Given the description of an element on the screen output the (x, y) to click on. 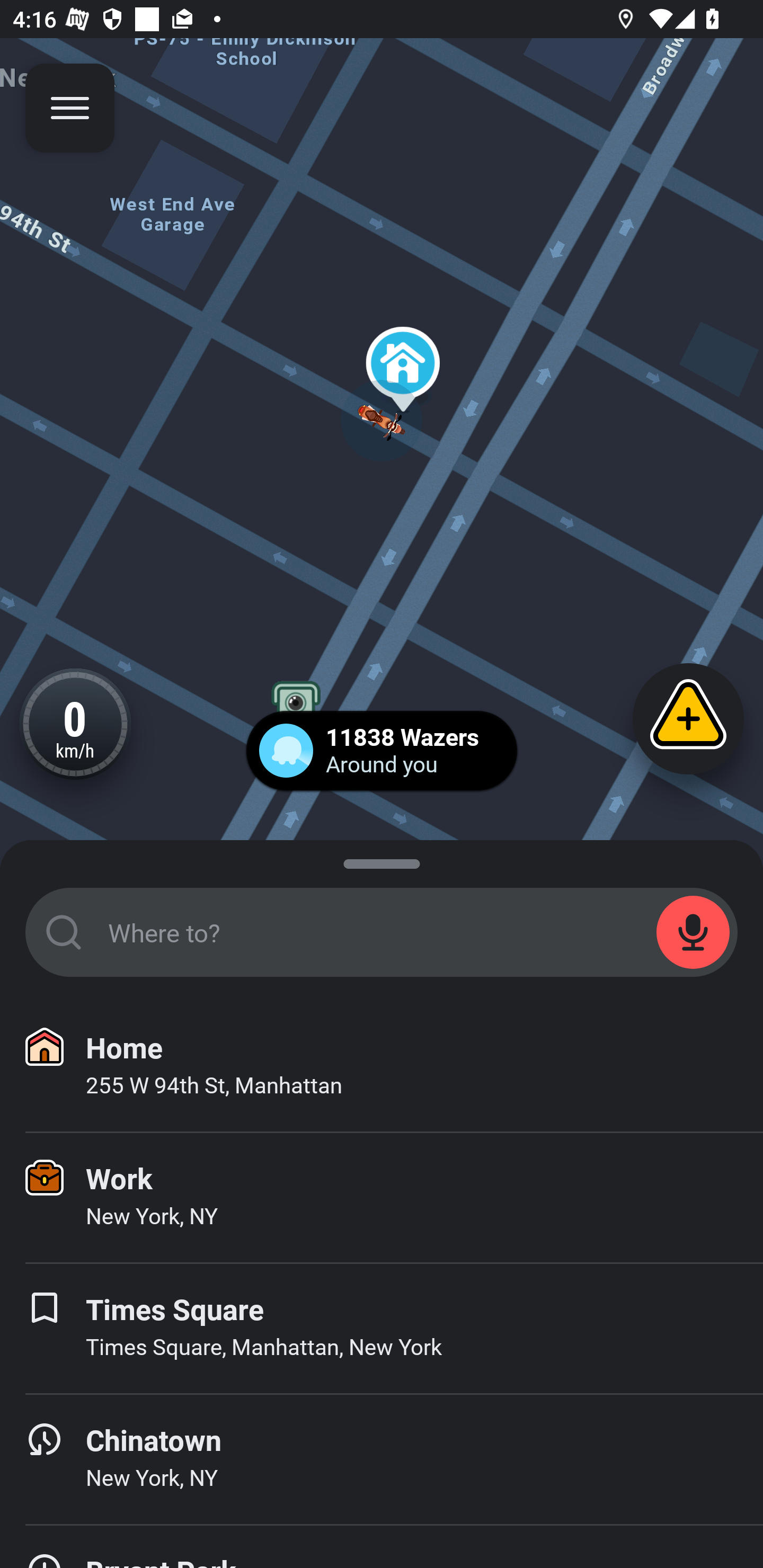
SUGGESTIONS_SHEET_DRAG_HANDLE (381, 860)
START_STATE_SEARCH_FIELD Where to? (381, 931)
Home 255 W 94th St, Manhattan (381, 1066)
Work New York, NY (381, 1197)
Times Square Times Square, Manhattan, New York (381, 1328)
Chinatown New York, NY (381, 1459)
